Given the description of an element on the screen output the (x, y) to click on. 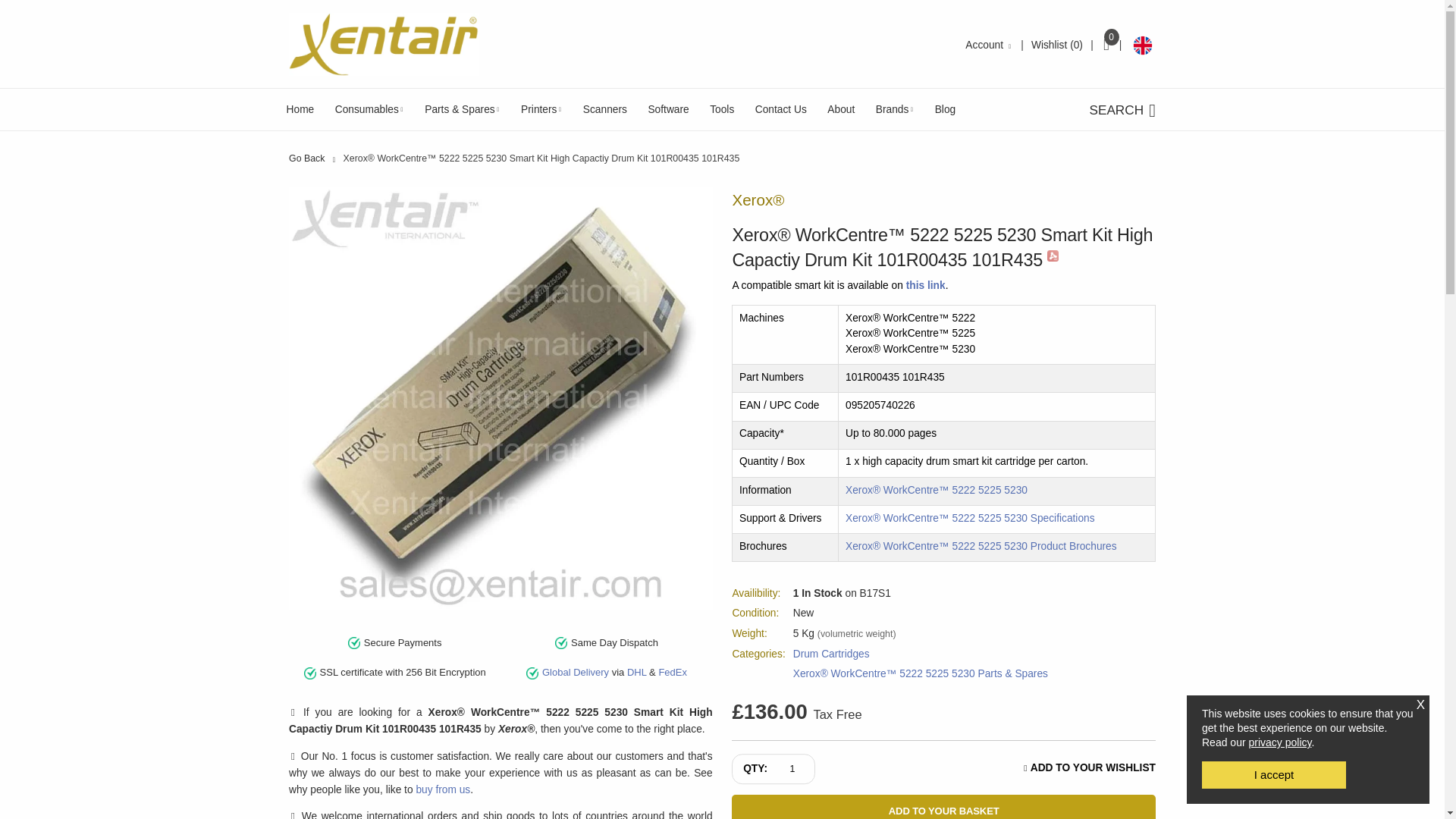
Account (989, 44)
PDF Document - B17S1 (1052, 255)
1 (796, 769)
